Given the description of an element on the screen output the (x, y) to click on. 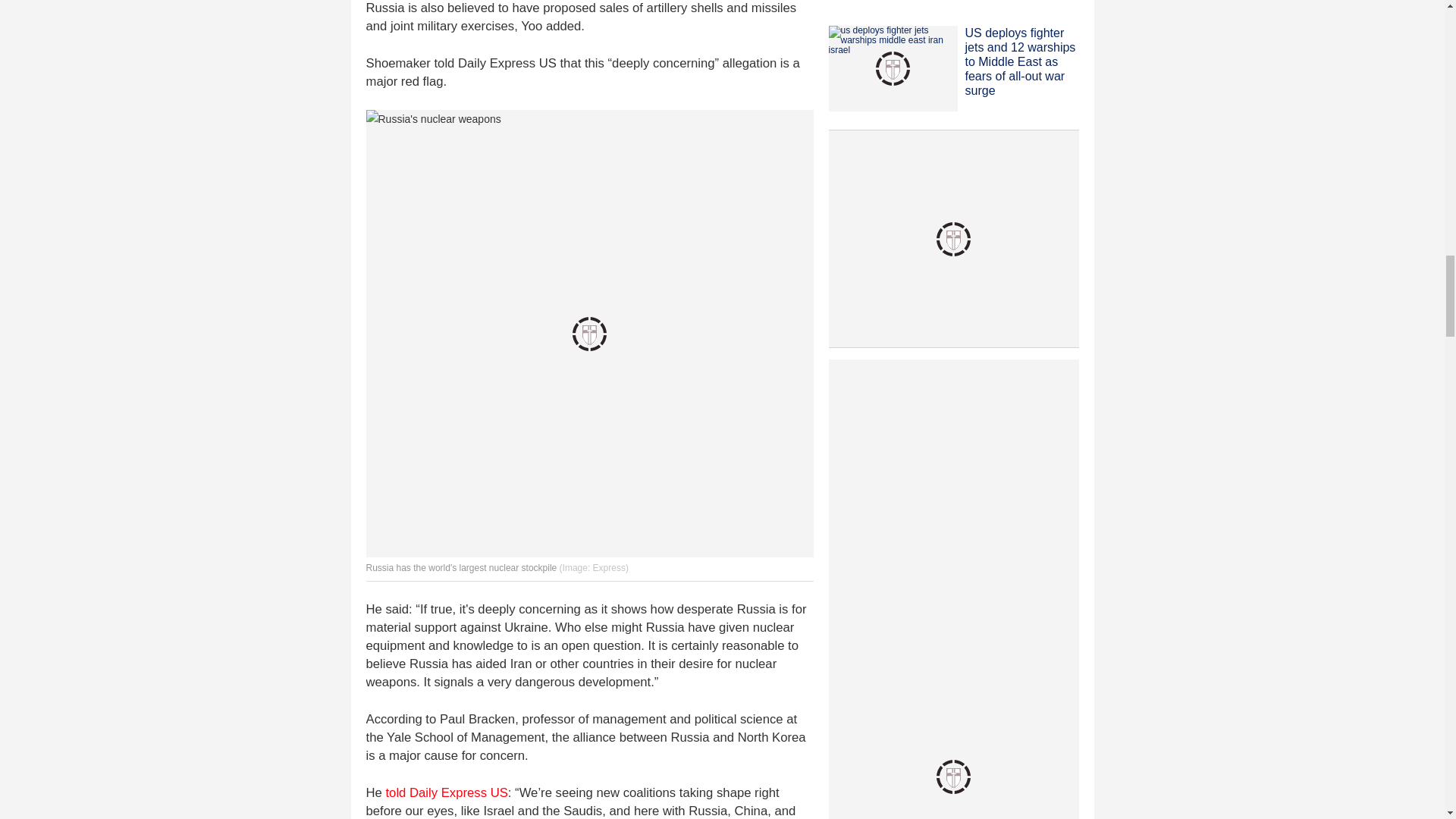
told Daily Express US (445, 792)
